Given the description of an element on the screen output the (x, y) to click on. 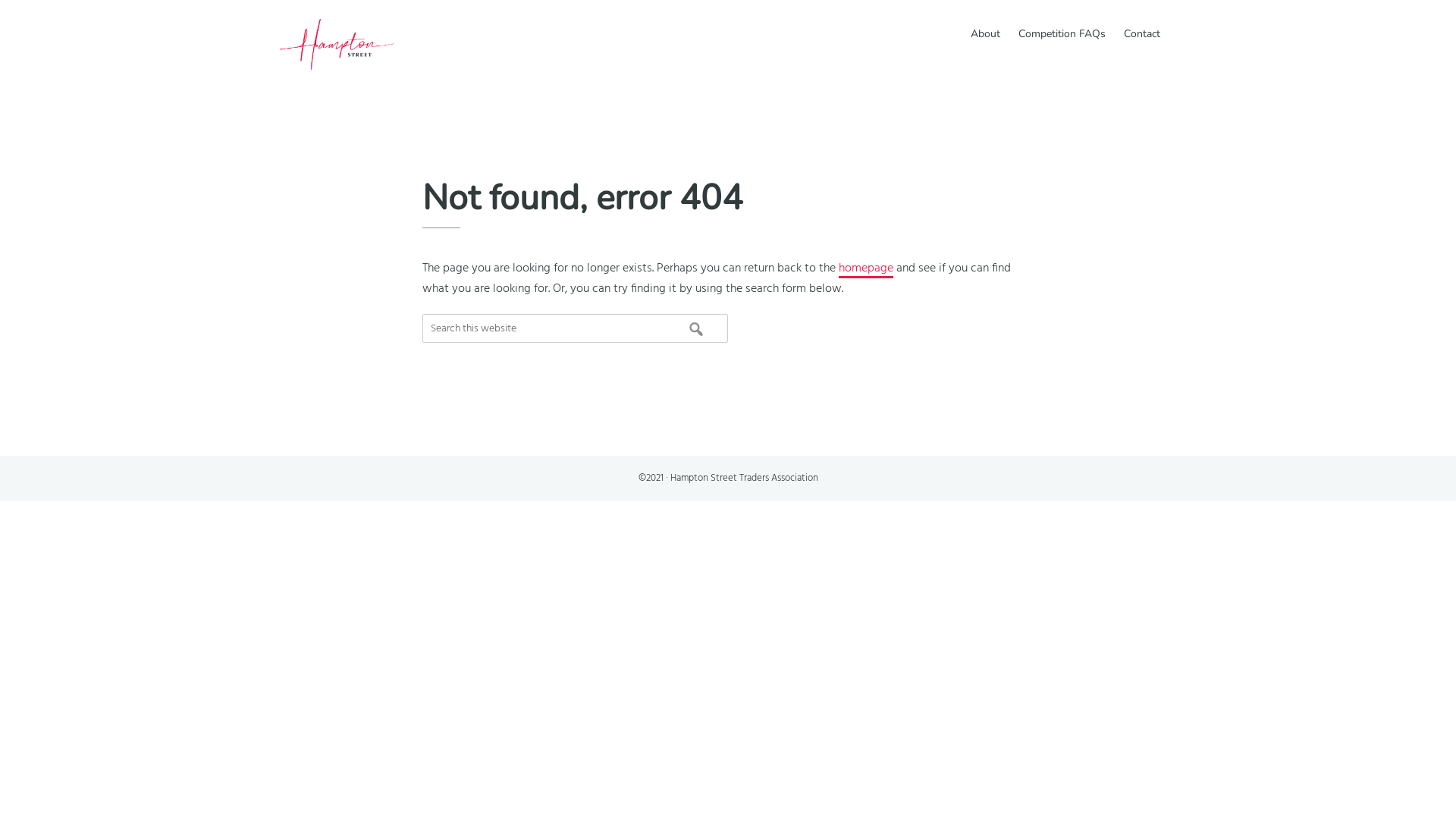
Skip to primary navigation Element type: text (0, 0)
Contact Element type: text (1142, 31)
Competition FAQs Element type: text (1061, 31)
About Element type: text (985, 31)
homepage Element type: text (865, 268)
